Given the description of an element on the screen output the (x, y) to click on. 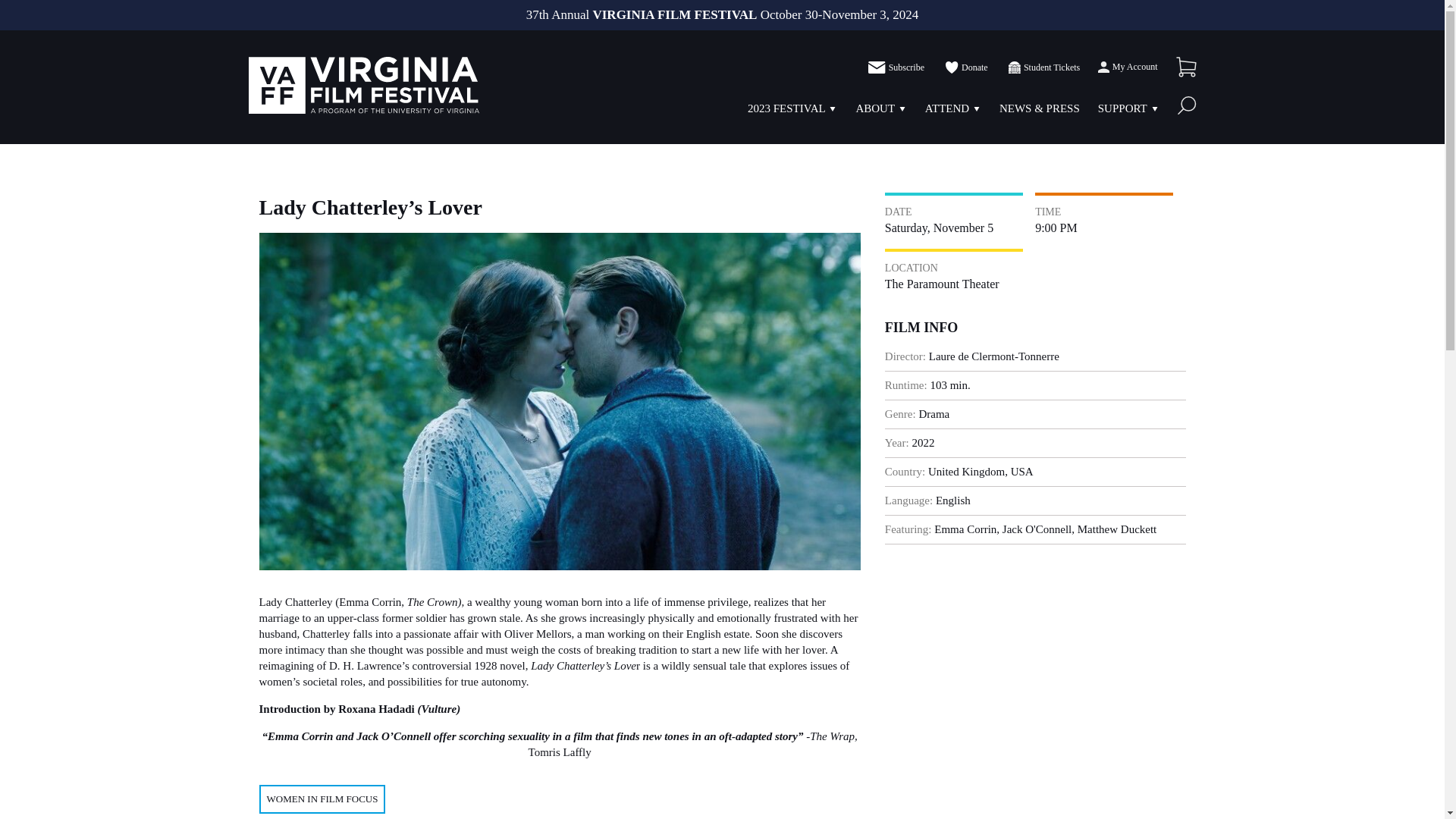
VIRGINIA FILM FESTIVAL (364, 84)
Subscribe (895, 67)
ATTEND (946, 108)
ABOUT (875, 108)
Student Tickets (1043, 67)
My Account (1127, 66)
2023 FESTIVAL (786, 108)
Donate (965, 67)
SUPPORT (1122, 108)
